Given the description of an element on the screen output the (x, y) to click on. 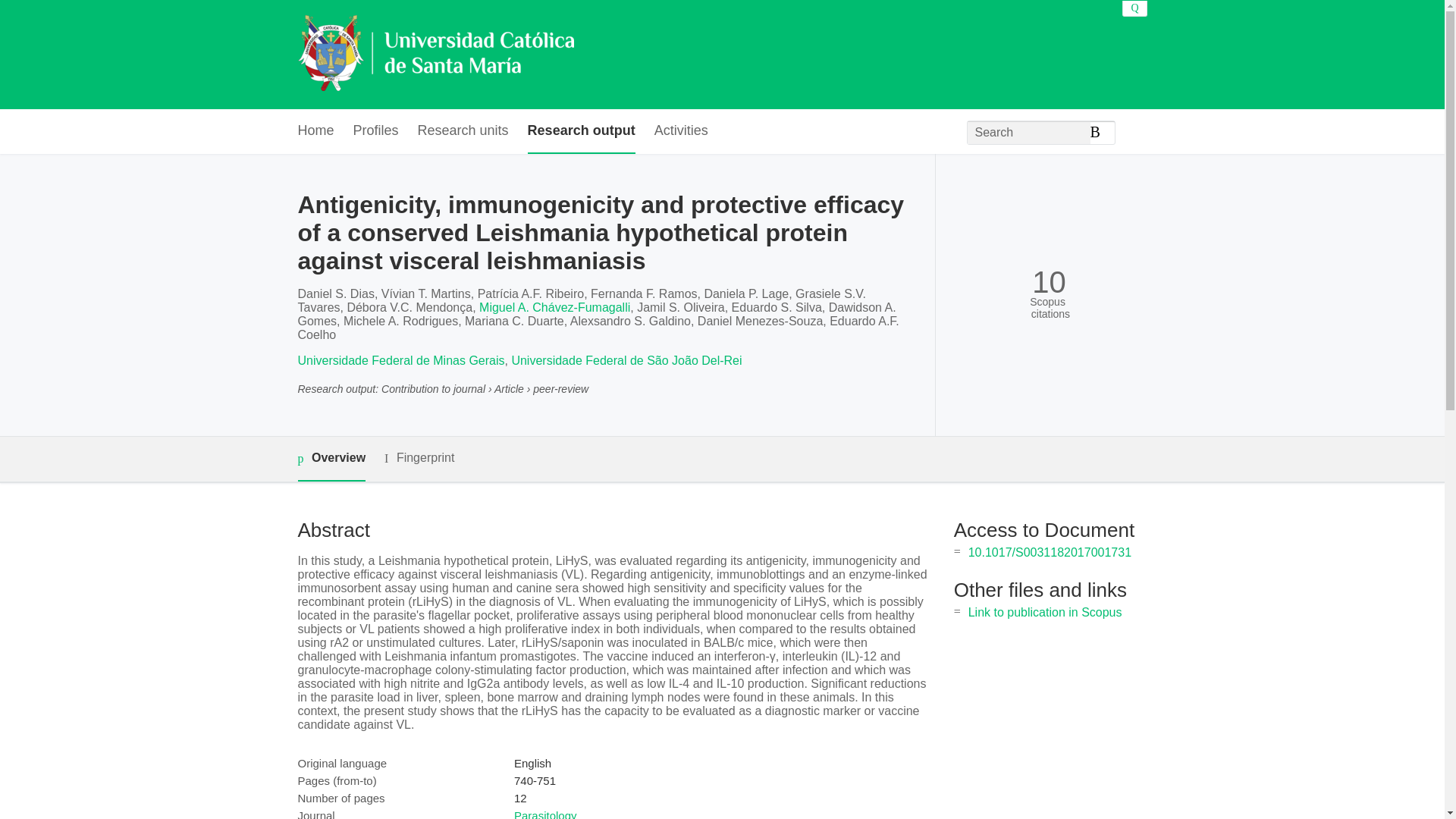
Link to publication in Scopus (1045, 612)
Fingerprint (419, 457)
Profiles (375, 130)
Parasitology (544, 814)
Activities (680, 130)
Overview (331, 458)
Research output (580, 130)
Universidade Federal de Minas Gerais (400, 359)
Research units (462, 130)
